Given the description of an element on the screen output the (x, y) to click on. 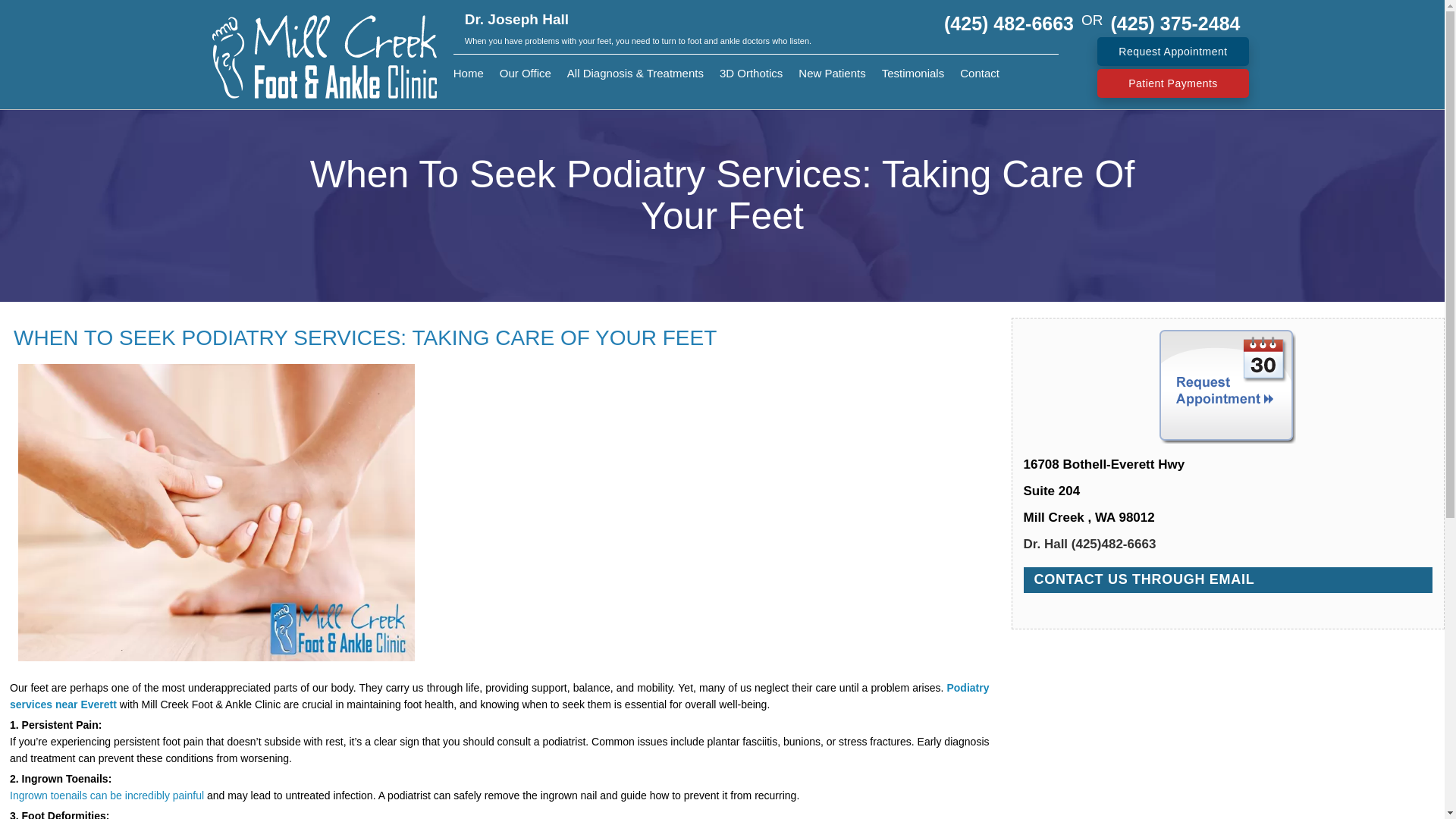
Our Office (525, 72)
Home (467, 72)
